Given the description of an element on the screen output the (x, y) to click on. 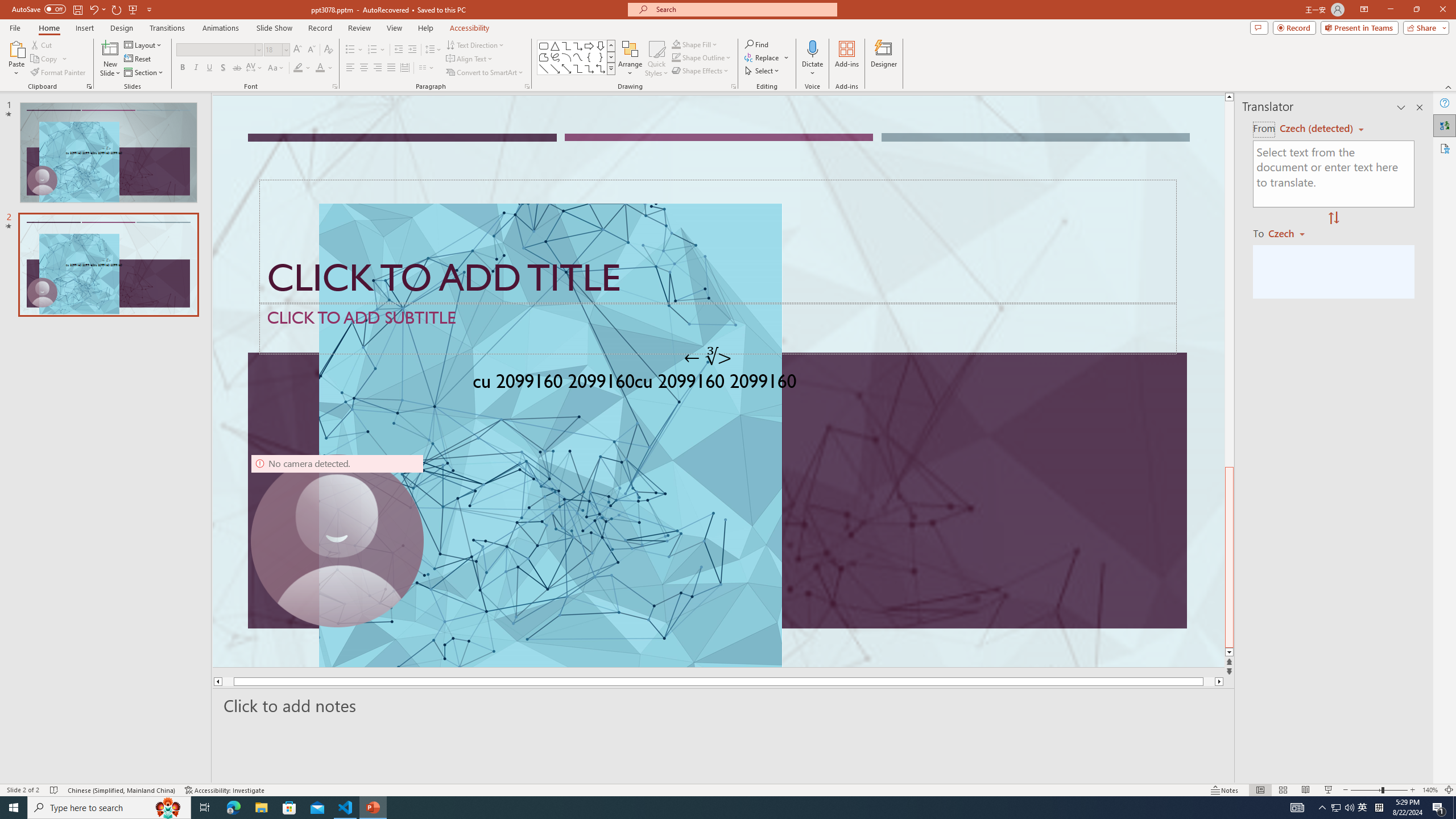
Czech (detected) (1317, 128)
TextBox 7 (708, 357)
